Given the description of an element on the screen output the (x, y) to click on. 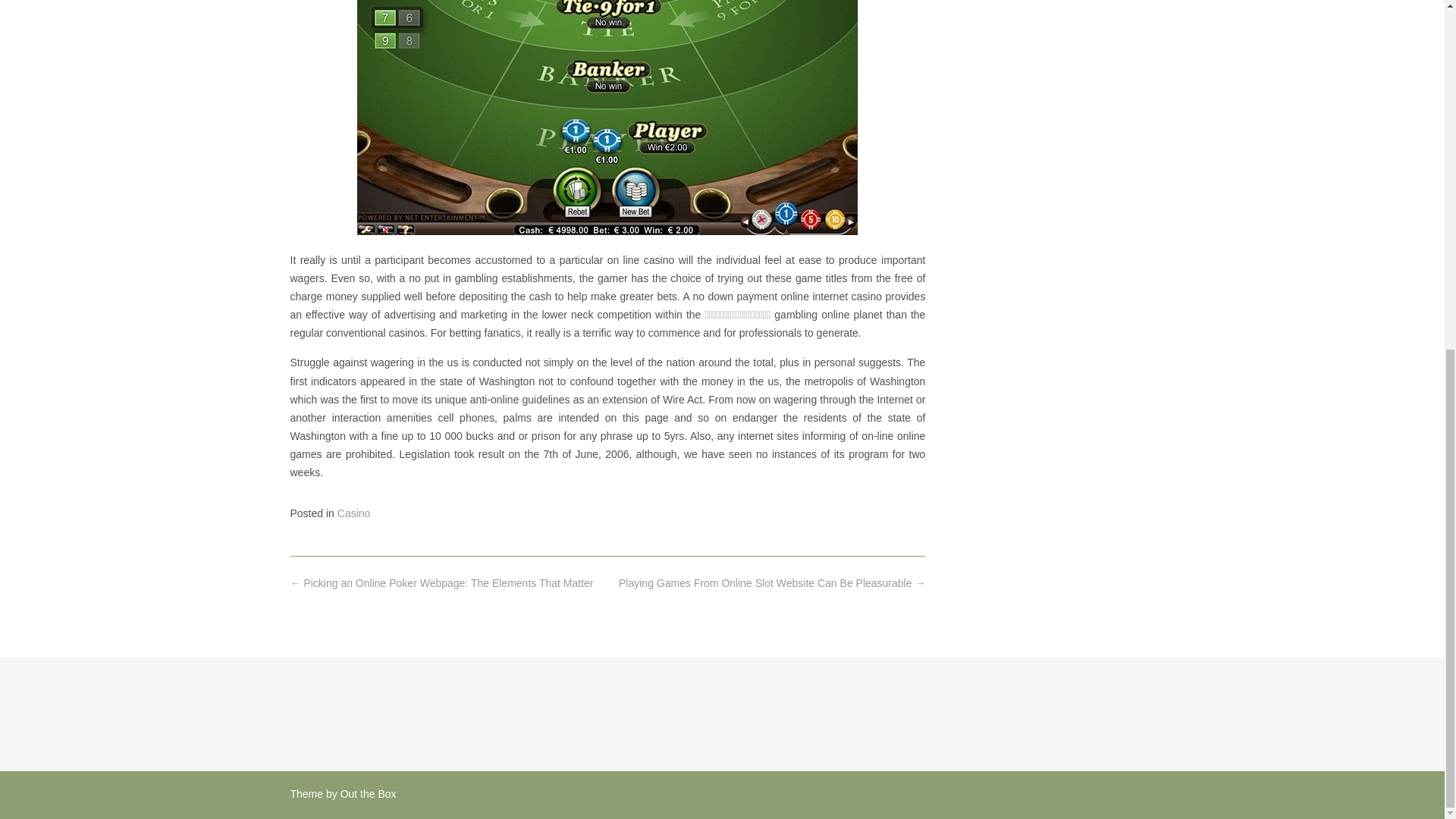
Casino (354, 512)
Out the Box (368, 793)
